Given the description of an element on the screen output the (x, y) to click on. 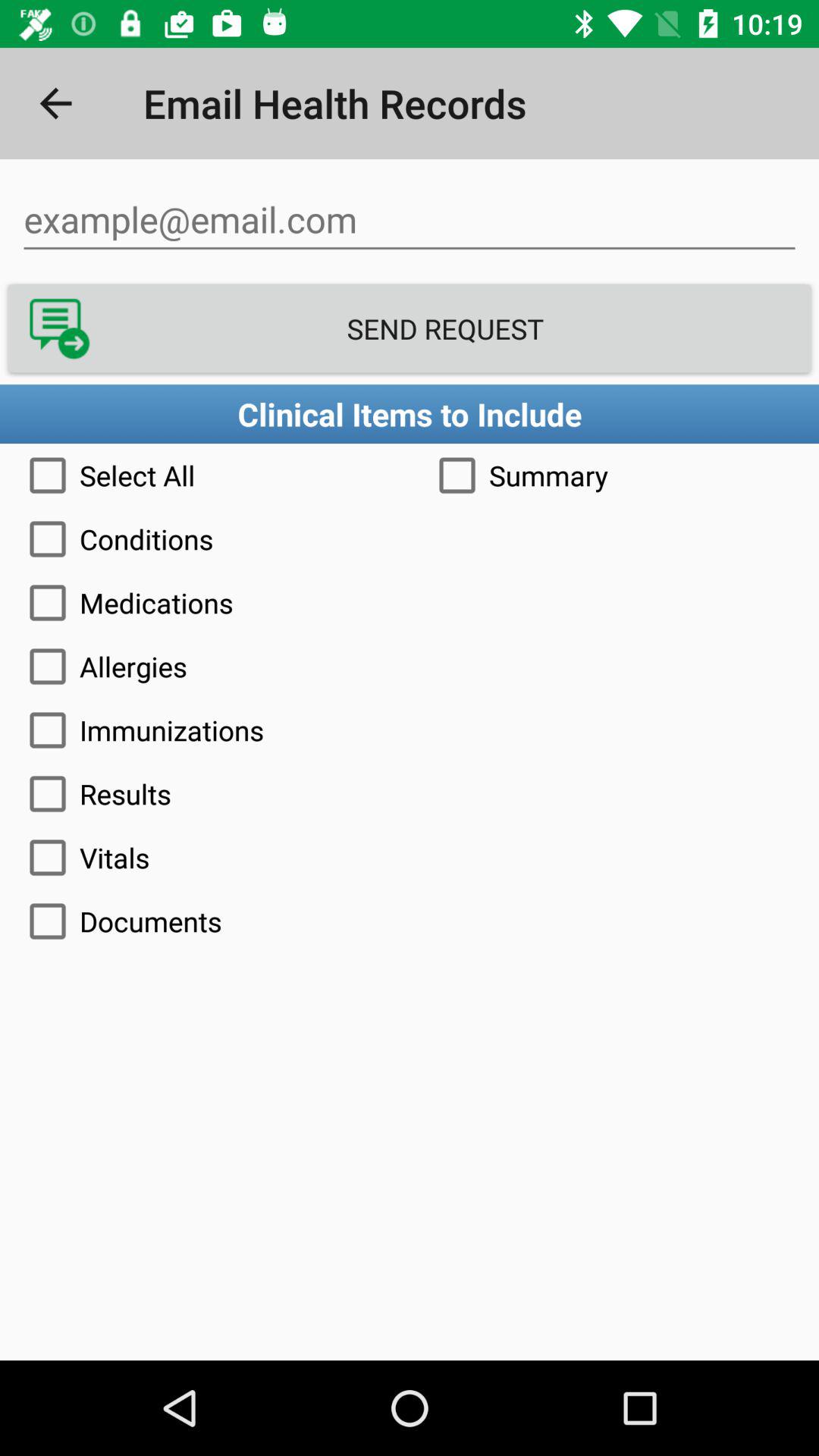
turn off allergies icon (409, 666)
